Given the description of an element on the screen output the (x, y) to click on. 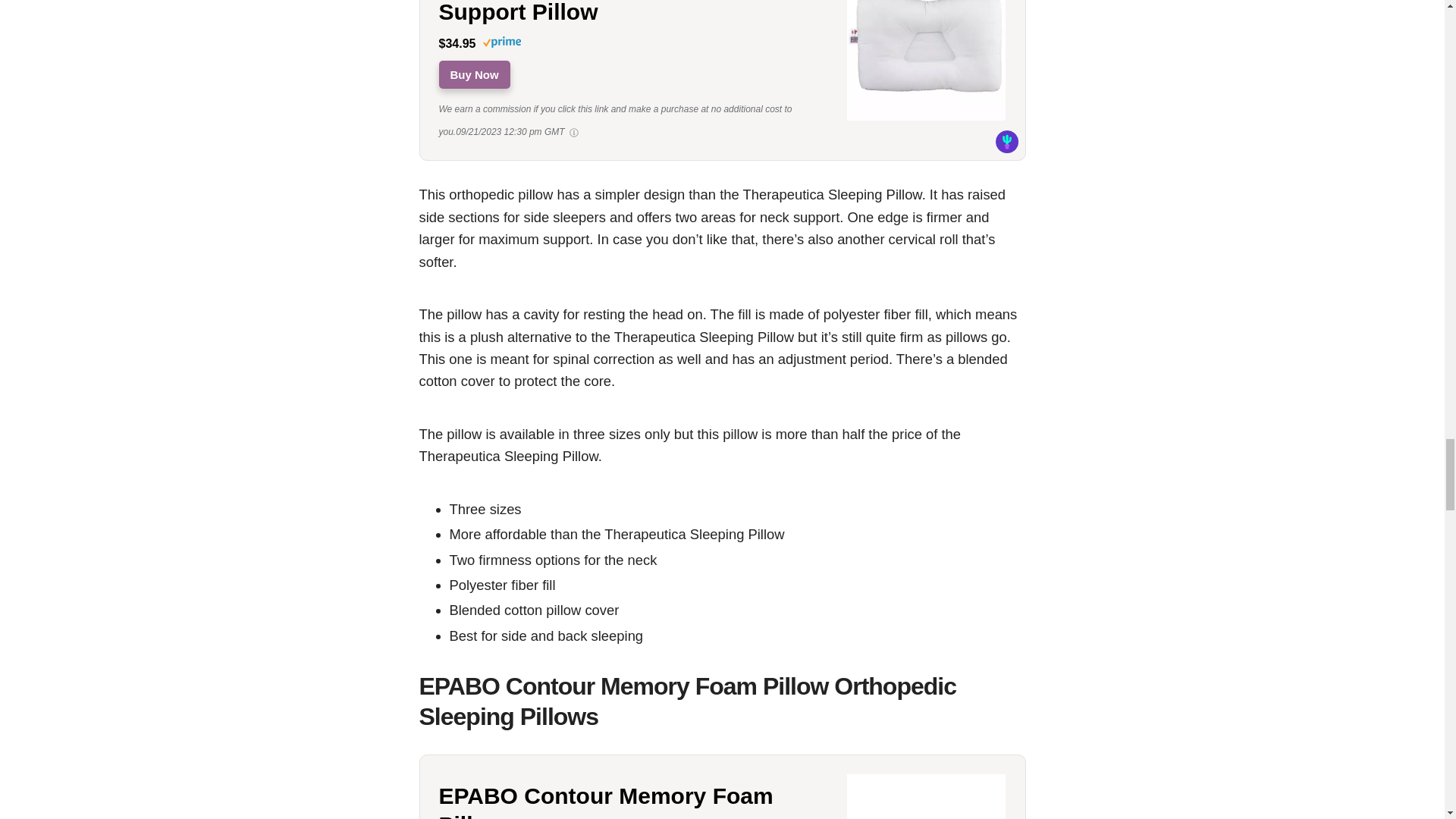
Core Products Tri-Core Cervical Support Pillow (473, 74)
Core Products Tri-Core Cervical Support Pillow (926, 119)
Buy Now (473, 74)
Core Products Tri-Core Cervical Support Pillow (631, 13)
EPABO Contour Memory Foam Pillow (631, 800)
EPABO Contour Memory Foam Pillow (631, 800)
Core Products Tri-Core Cervical Support Pillow (631, 13)
